Given the description of an element on the screen output the (x, y) to click on. 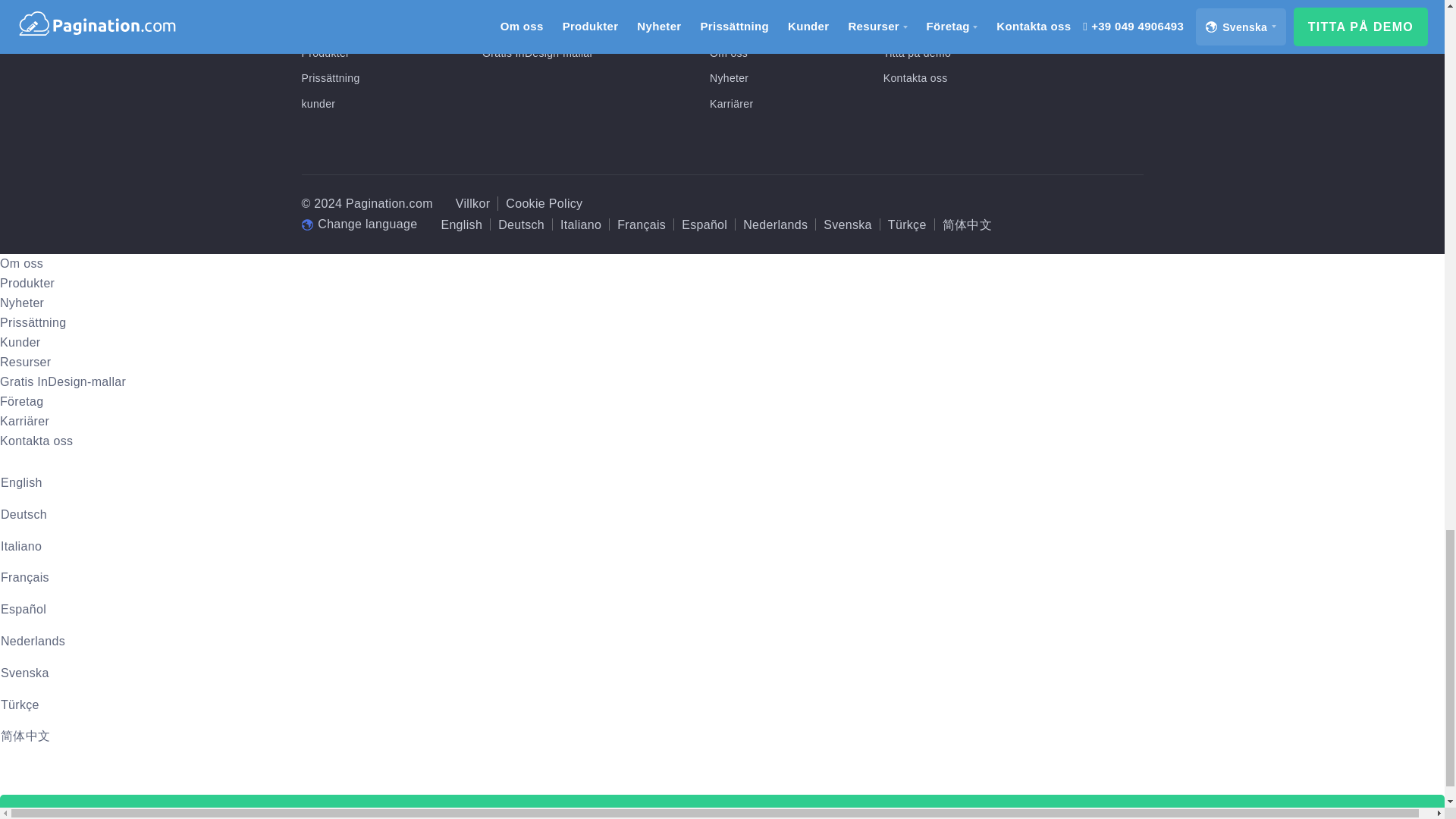
kunder (318, 103)
Nyheter (729, 78)
Produkter (325, 52)
Cookie Policy (543, 203)
Villkor (472, 203)
Gratis InDesign-mallar (536, 52)
Om oss (729, 52)
Kontakta oss (915, 78)
